Given the description of an element on the screen output the (x, y) to click on. 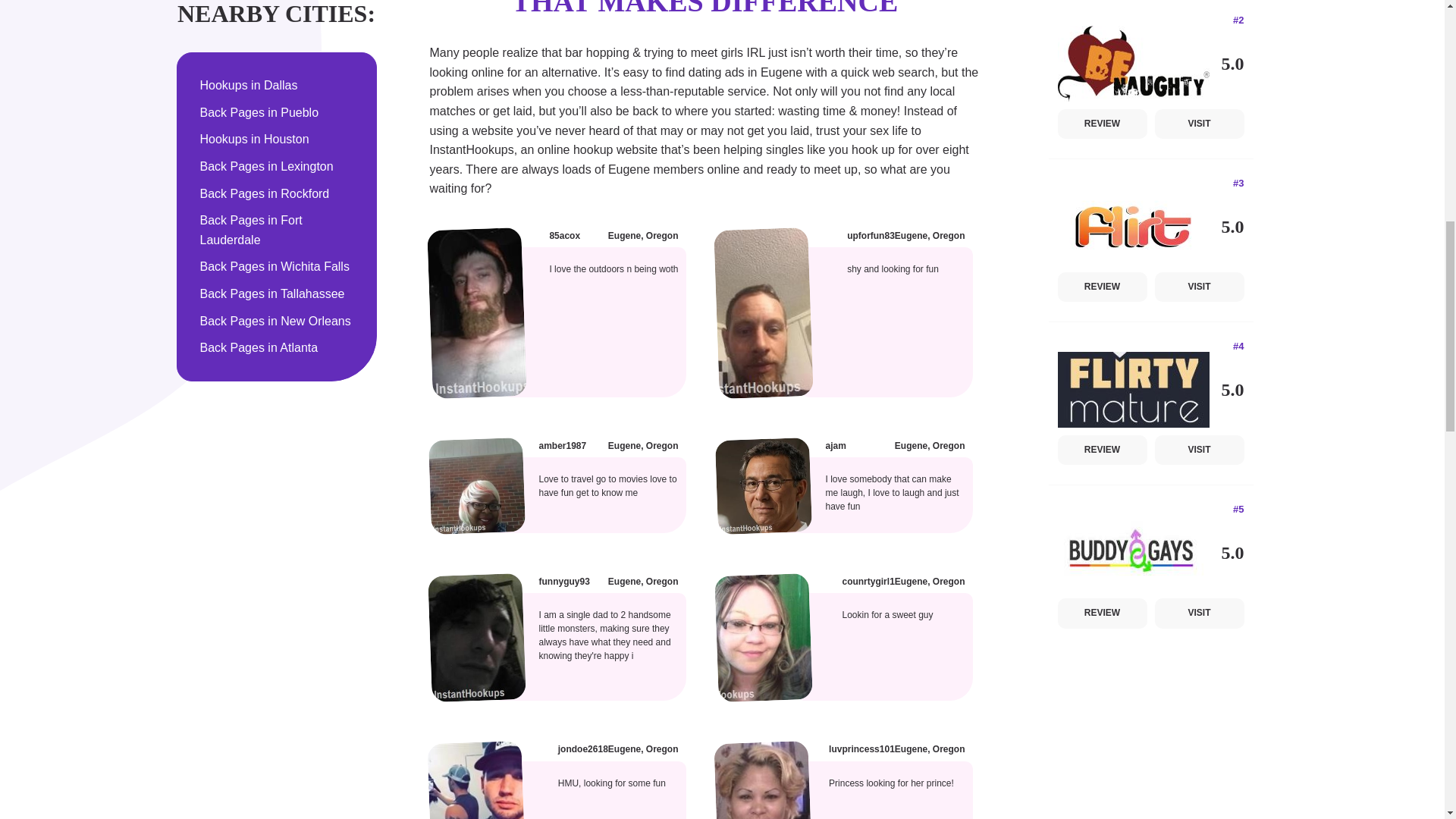
Back Pages in Rockford (276, 193)
Back Pages in Atlanta (276, 347)
Back Pages in Tallahassee (276, 293)
Hookups in Dallas (276, 85)
Back Pages in Lexington (276, 166)
Back Pages in New Orleans (276, 321)
Back Pages in Pueblo (276, 112)
Hookups in Houston (276, 139)
Back Pages in Fort Lauderdale (276, 229)
Back Pages in Wichita Falls (276, 266)
